Given the description of an element on the screen output the (x, y) to click on. 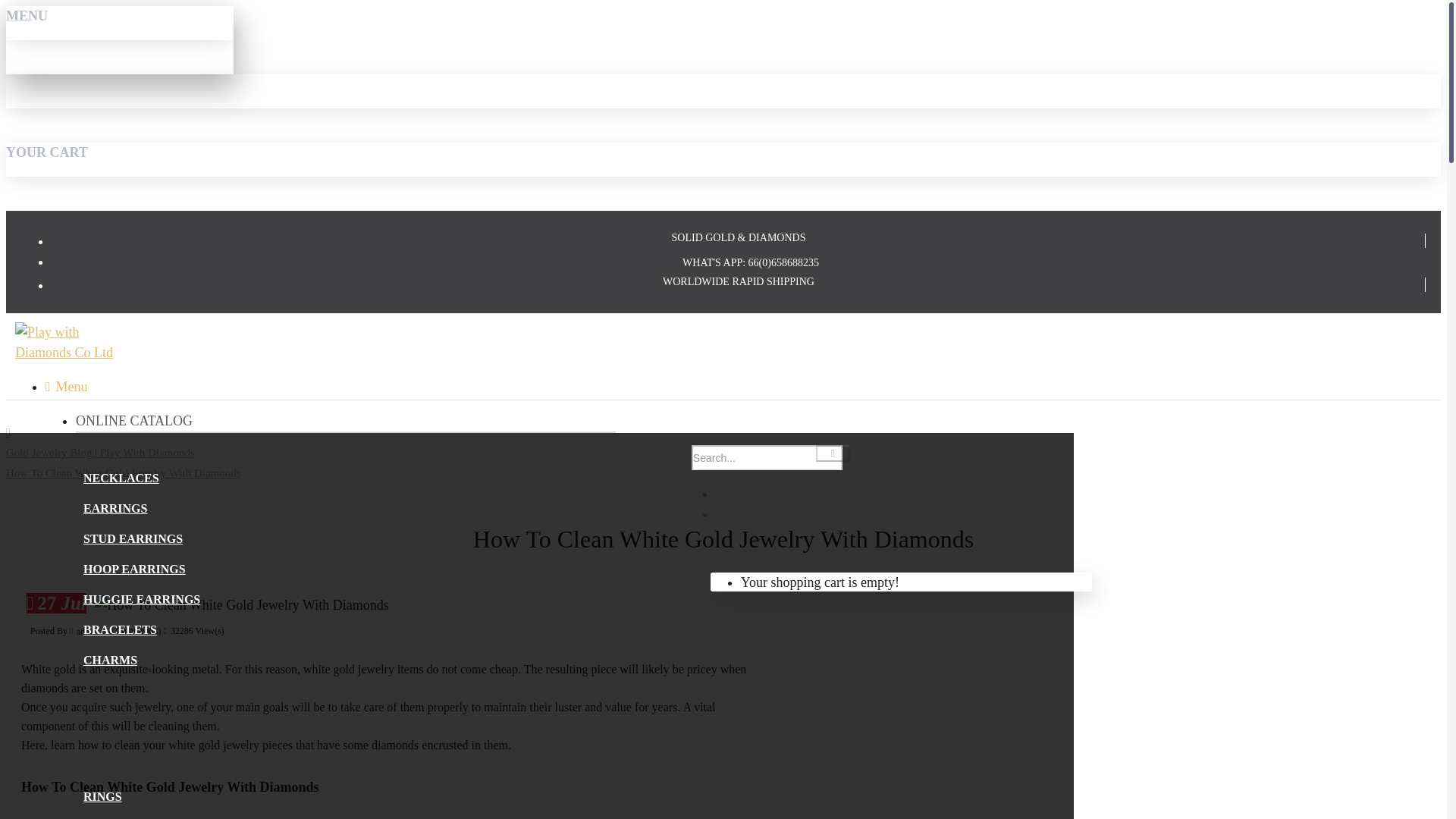
Play with Diamonds Co Ltd (64, 342)
Menu (66, 386)
CHARMS (109, 660)
ONLINE CATALOG (133, 421)
ENGAGEMENT RINGS (143, 815)
HOOP EARRINGS (134, 569)
HUGGIE EARRINGS (141, 599)
RINGS (102, 797)
How To Clean White Gold Jewelry With Diamonds (241, 605)
WORLDWIDE RAPID SHIPPING (738, 281)
BRACELETS (119, 630)
EARRINGS (114, 508)
STUD EARRINGS (132, 539)
NECKLACES (121, 478)
